Given the description of an element on the screen output the (x, y) to click on. 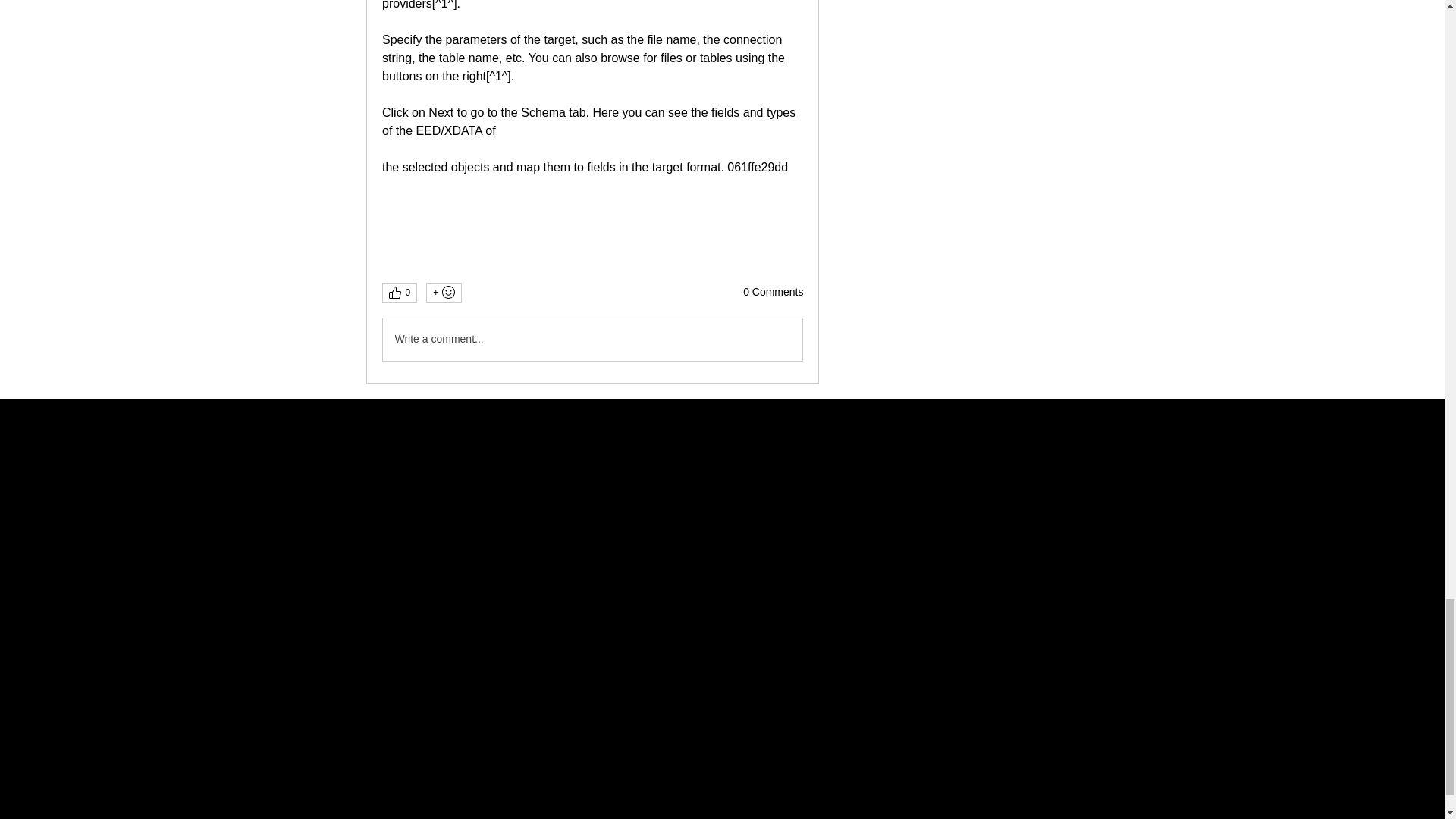
0 Comments (772, 292)
Write a comment... (591, 339)
